Given the description of an element on the screen output the (x, y) to click on. 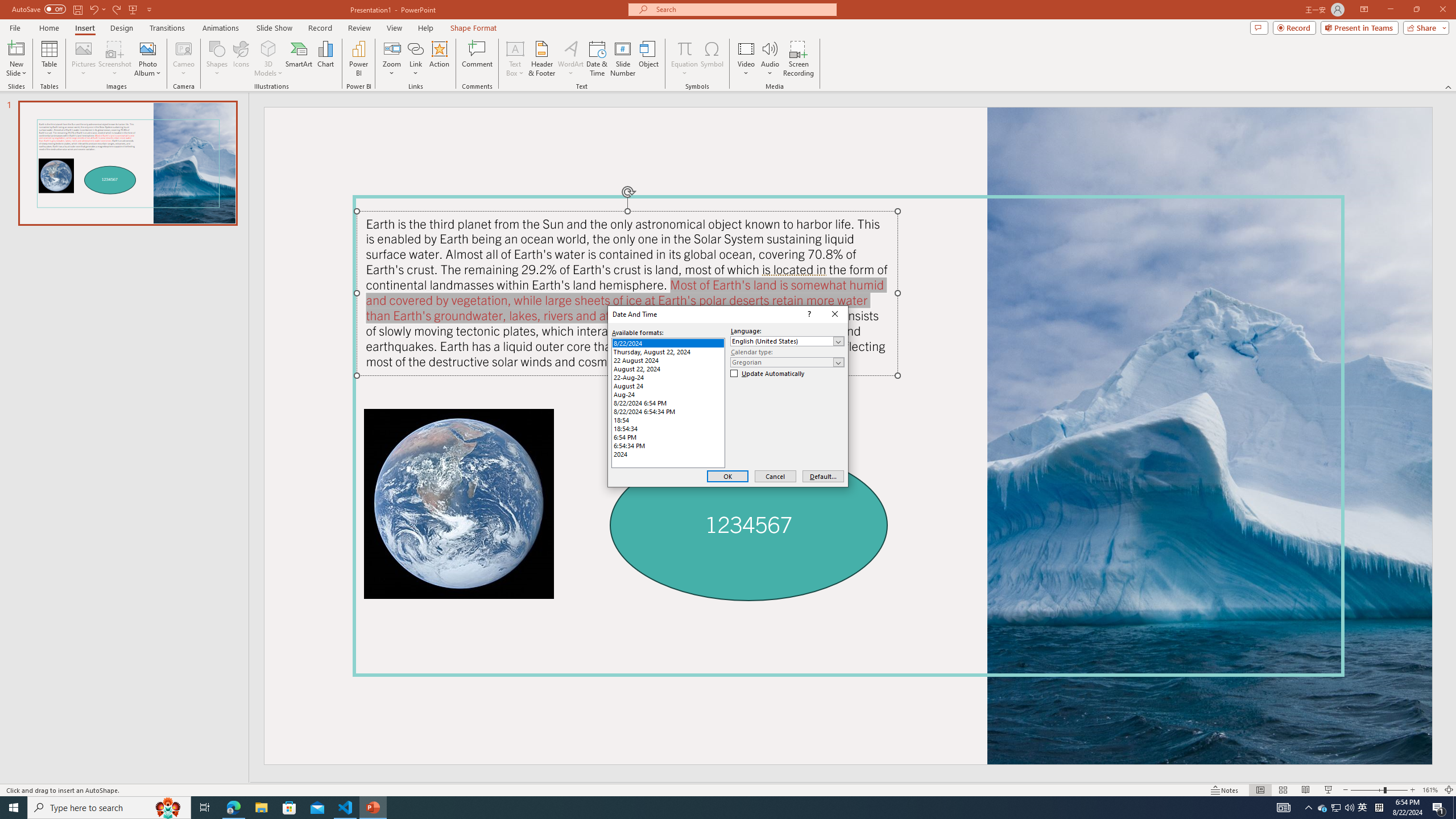
OK (727, 476)
New Photo Album... (147, 48)
